Given the description of an element on the screen output the (x, y) to click on. 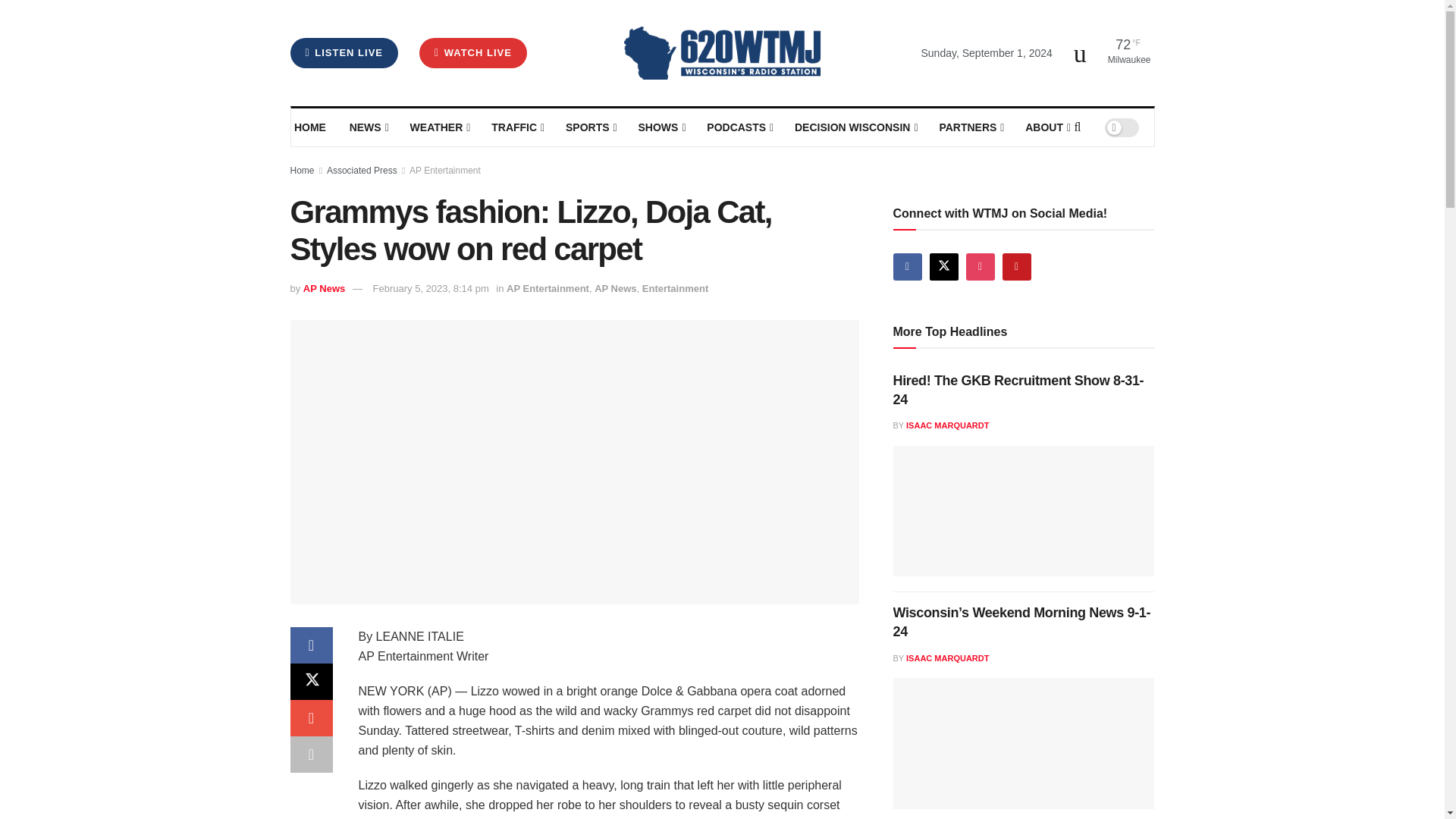
HOME (310, 127)
TRAFFIC (516, 127)
NEWS (368, 127)
WATCH LIVE (473, 52)
LISTEN LIVE (343, 52)
WEATHER (438, 127)
